Given the description of an element on the screen output the (x, y) to click on. 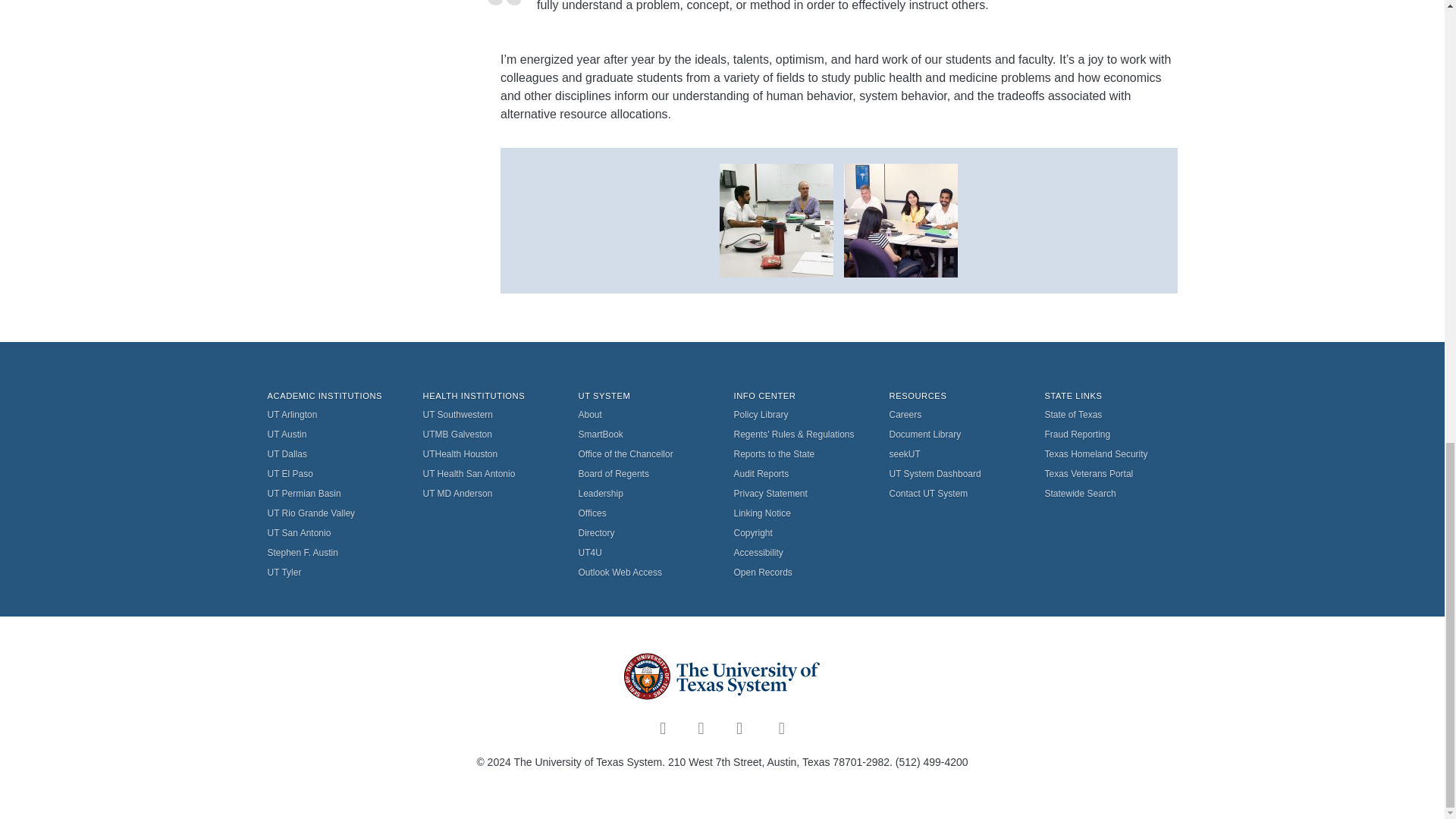
Board of Regents (644, 474)
UT Austin (332, 434)
Lairson, David (775, 219)
UT Arlington (332, 414)
UT San Antonio (332, 532)
UT Health Science Center at Houston (489, 454)
Leadership (644, 493)
Office of the Chancellor (644, 454)
Offices (644, 513)
UT Medical Branch at Galveston (489, 434)
UT Southwestern (489, 414)
Stephen F. Austin (332, 552)
UT El Paso (332, 474)
UT Rio Grande Valley (332, 513)
UT MD Anderson (489, 493)
